Given the description of an element on the screen output the (x, y) to click on. 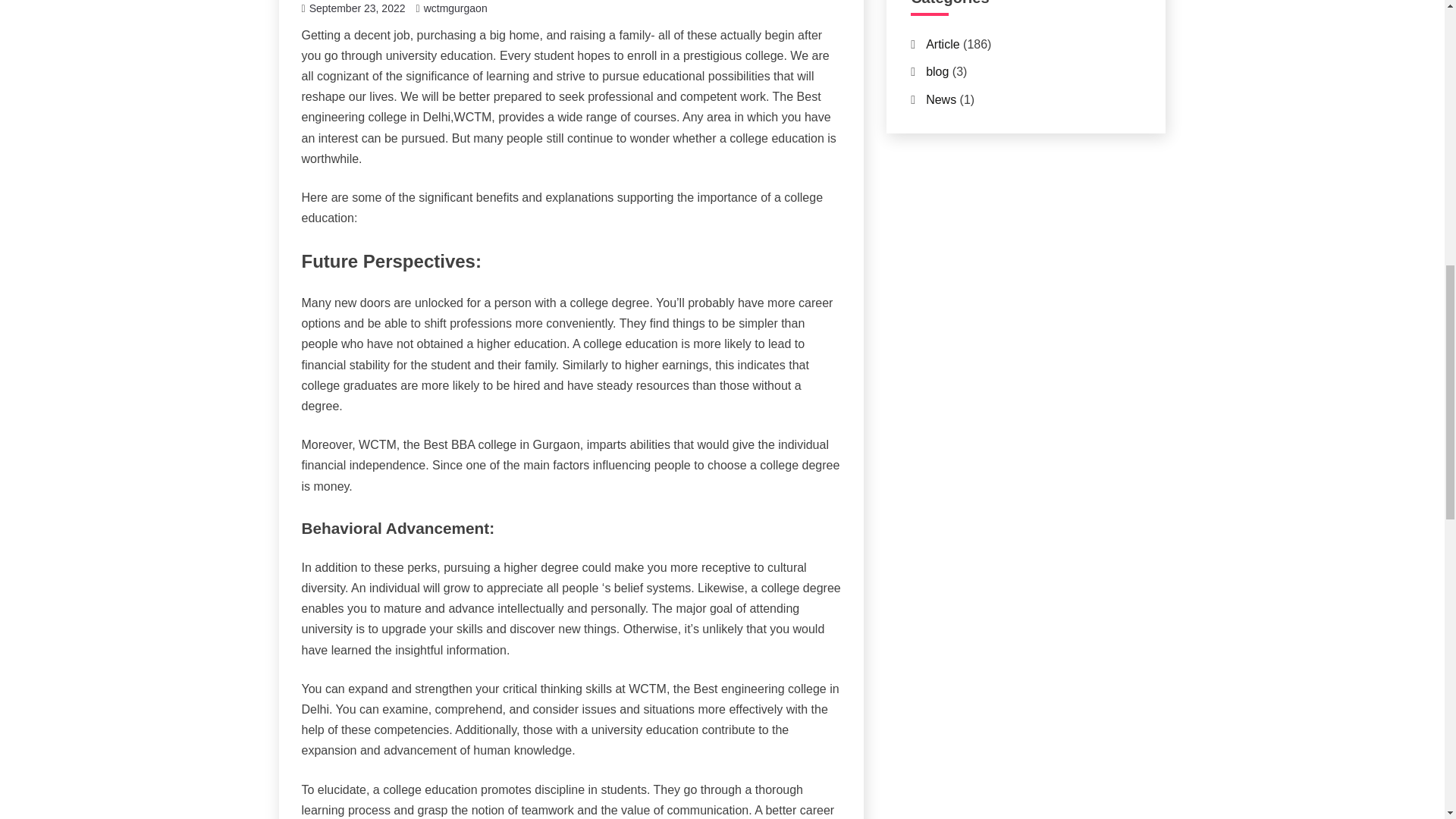
wctmgurgaon (455, 8)
Article (942, 43)
September 23, 2022 (357, 8)
